Given the description of an element on the screen output the (x, y) to click on. 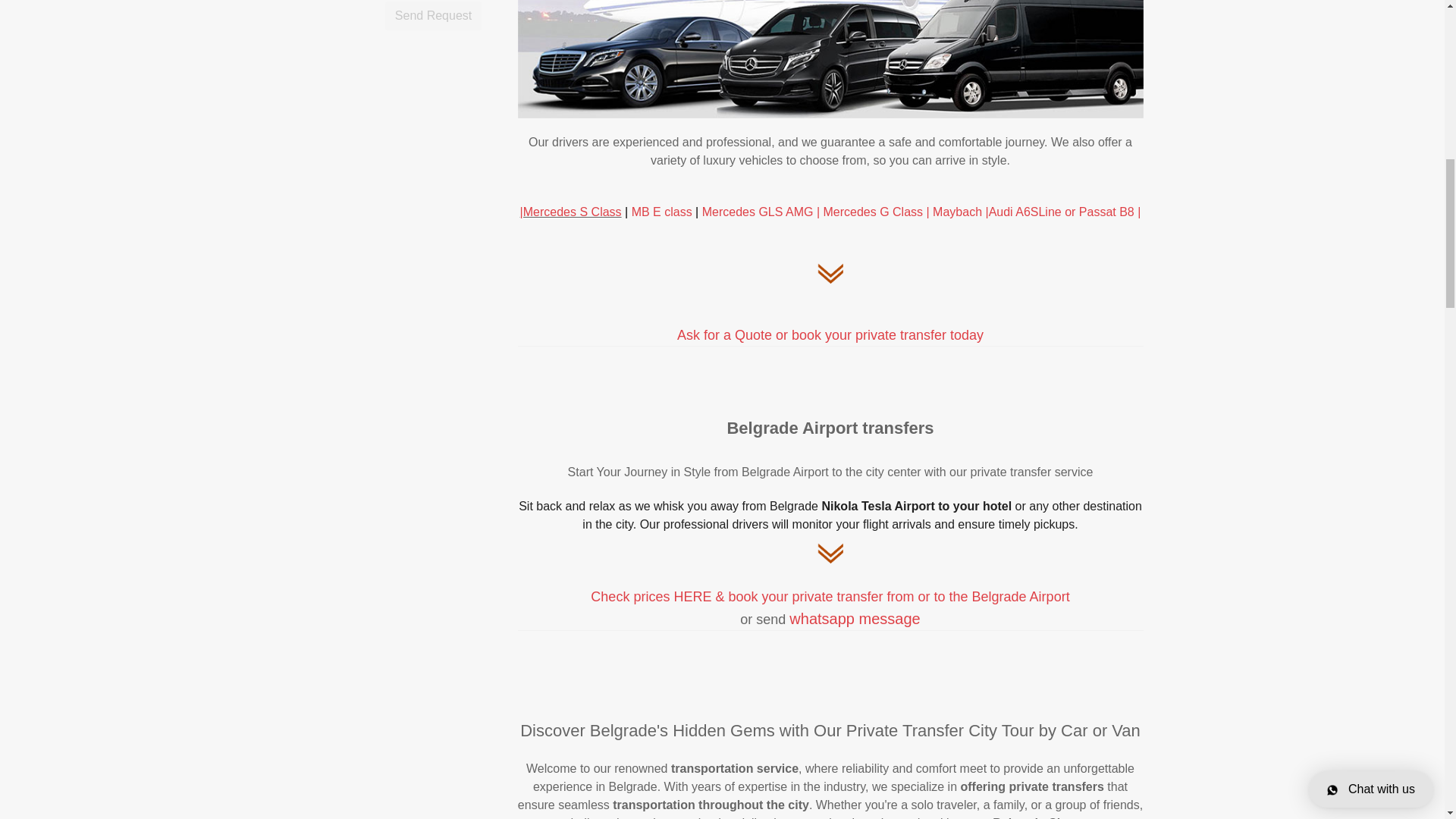
Lux Vehicle Rent with Driver in Belgrade (720, 212)
Lux Vehicle Rent with Driver in Belgrade (959, 212)
Ask for a quote or book your private transfer (830, 335)
Lux Vehicle Rent with Driver in Belgrade (1063, 212)
Lux Vehicle Rent with Driver in Belgrade (570, 212)
Lux Vehicle Rent with Driver in Belgrade (874, 212)
